Given the description of an element on the screen output the (x, y) to click on. 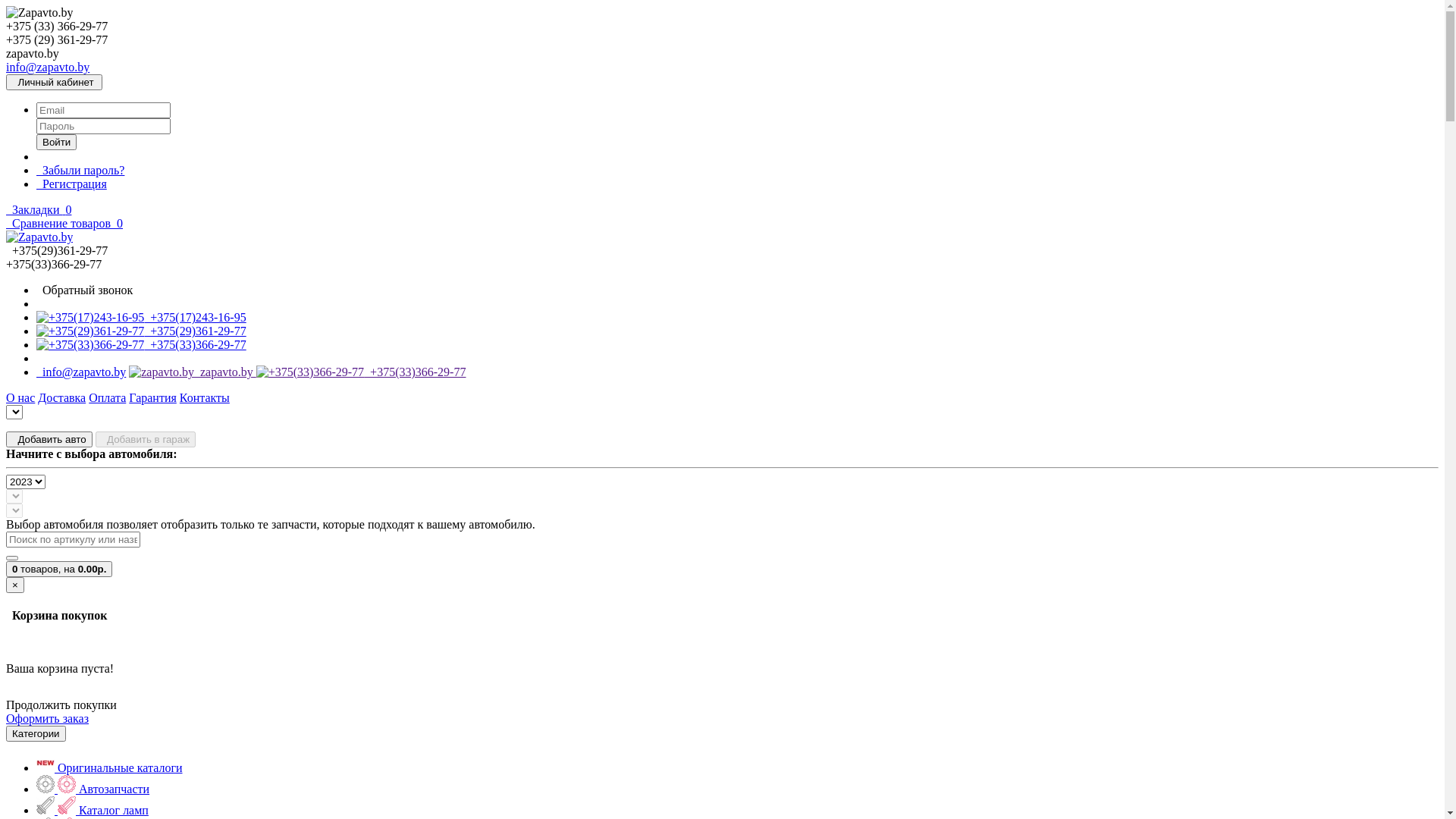
  +375(29)361-29-77 Element type: text (141, 330)
  +375(33)366-29-77 Element type: text (141, 344)
  +375(33)366-29-77 Element type: text (361, 371)
  +375(17)243-16-95 Element type: text (141, 316)
  zapavto.by Element type: text (192, 371)
  info@zapavto.by Element type: text (80, 371)
info@zapavto.by Element type: text (47, 66)
Zapavto.by Element type: hover (39, 237)
